Given the description of an element on the screen output the (x, y) to click on. 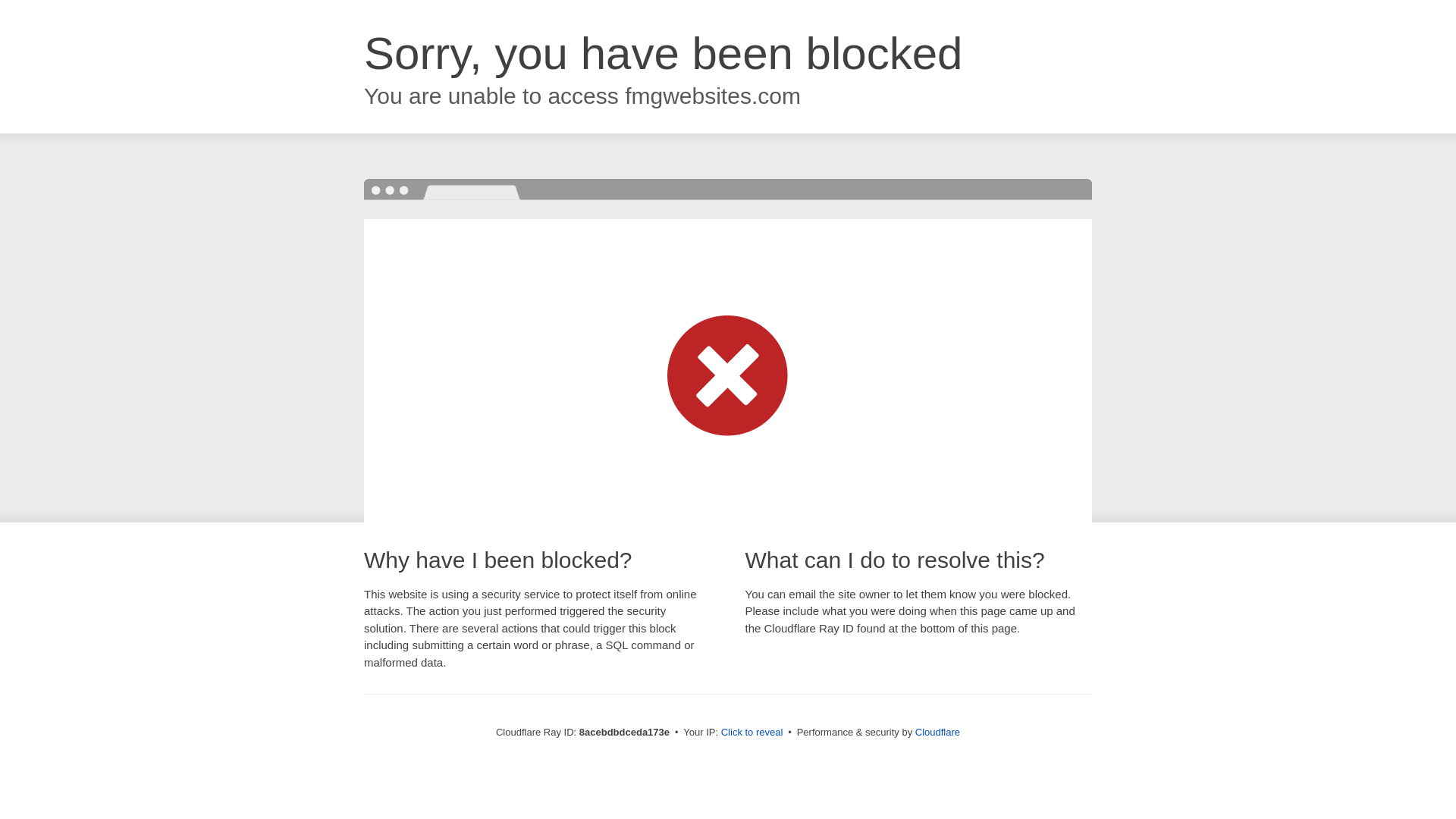
Cloudflare (937, 731)
Click to reveal (751, 732)
